Given the description of an element on the screen output the (x, y) to click on. 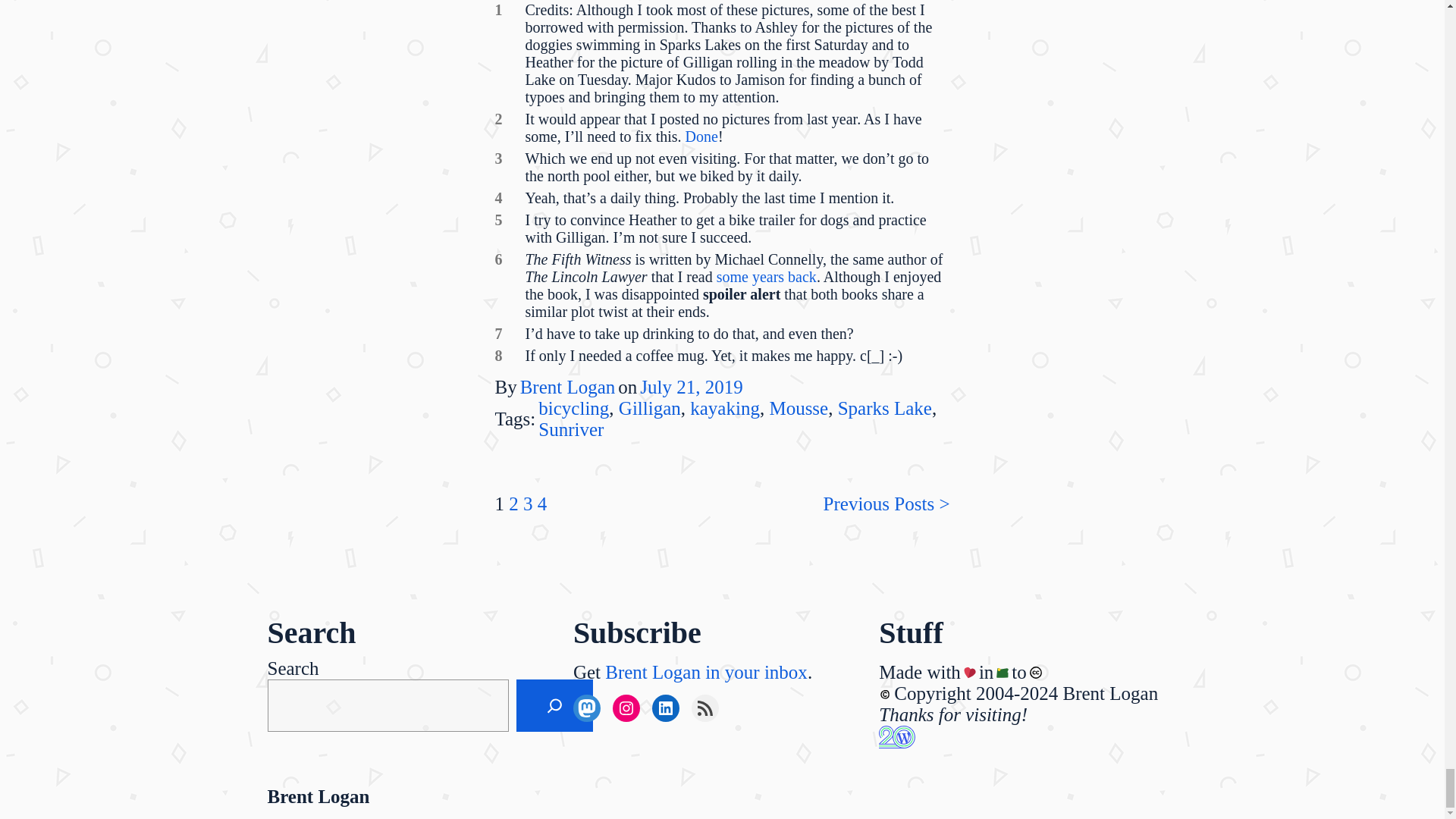
share (1035, 672)
love (969, 672)
Portland, Oregon metro area (1002, 673)
